Given the description of an element on the screen output the (x, y) to click on. 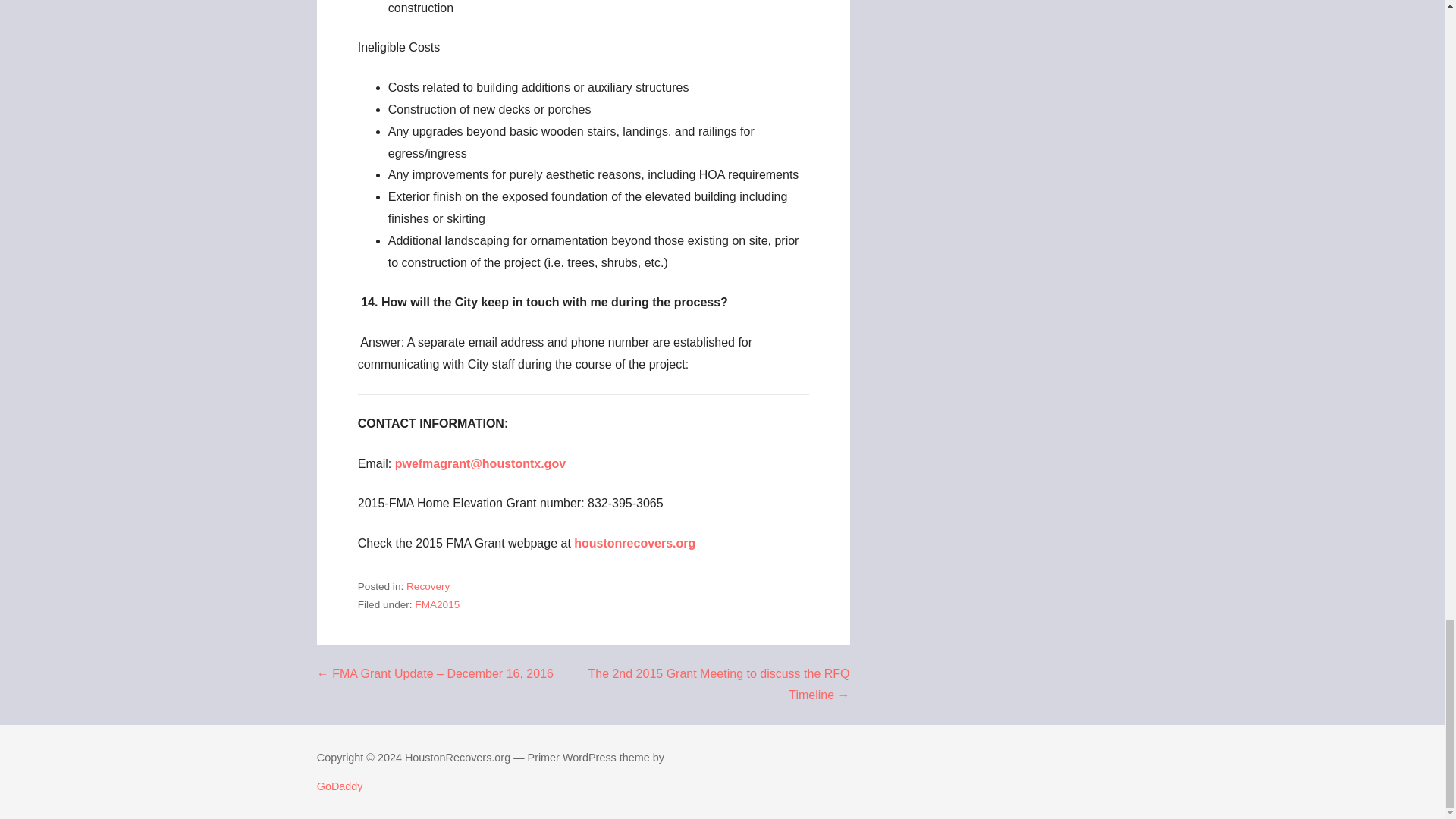
Recovery (427, 586)
GoDaddy (339, 786)
FMA2015 (437, 604)
houstonrecovers.org (634, 543)
